Given the description of an element on the screen output the (x, y) to click on. 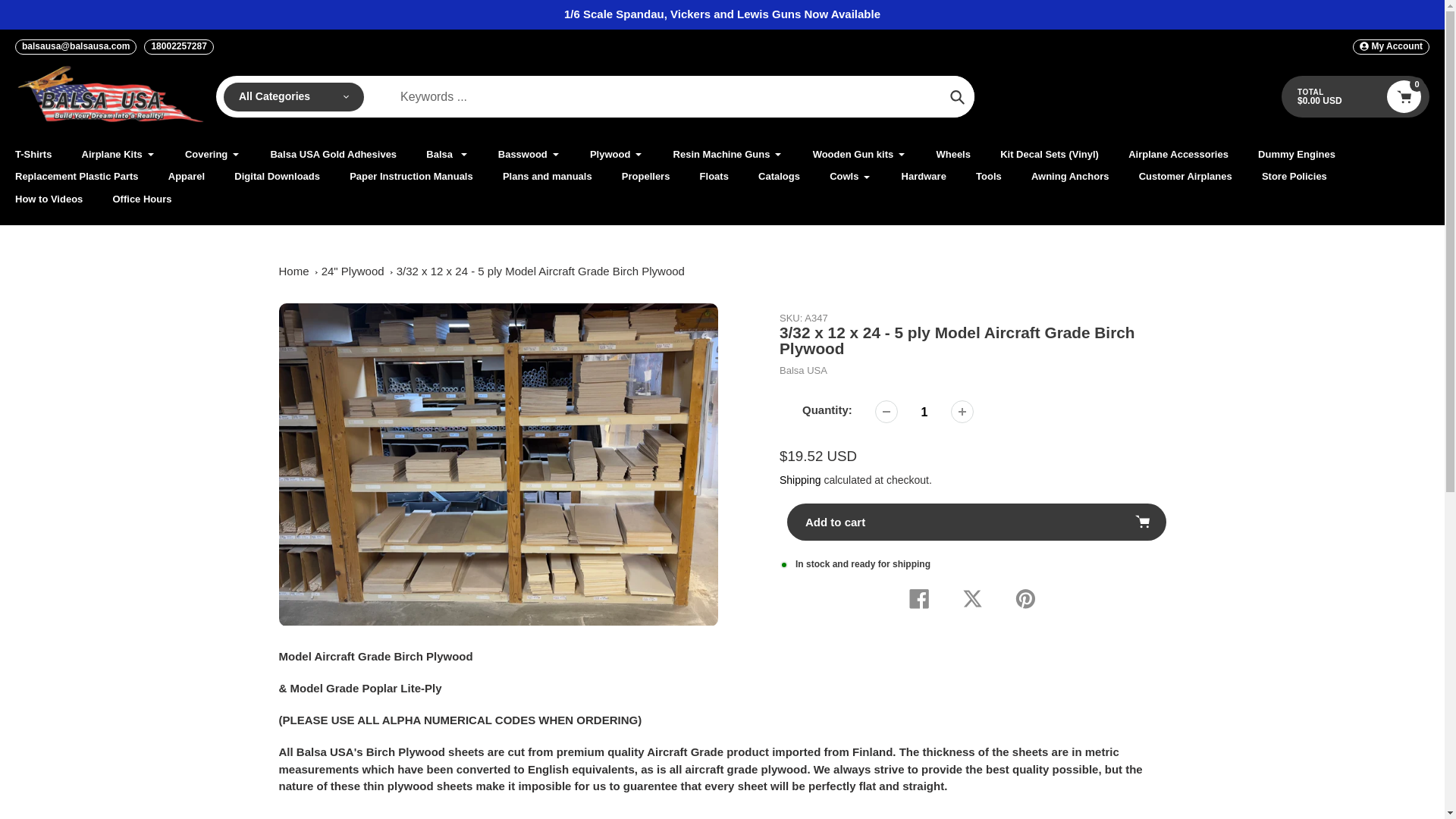
Balsa USA (802, 369)
18002257287 (178, 46)
All Categories (294, 96)
1 (924, 411)
My Account (1390, 46)
